Given the description of an element on the screen output the (x, y) to click on. 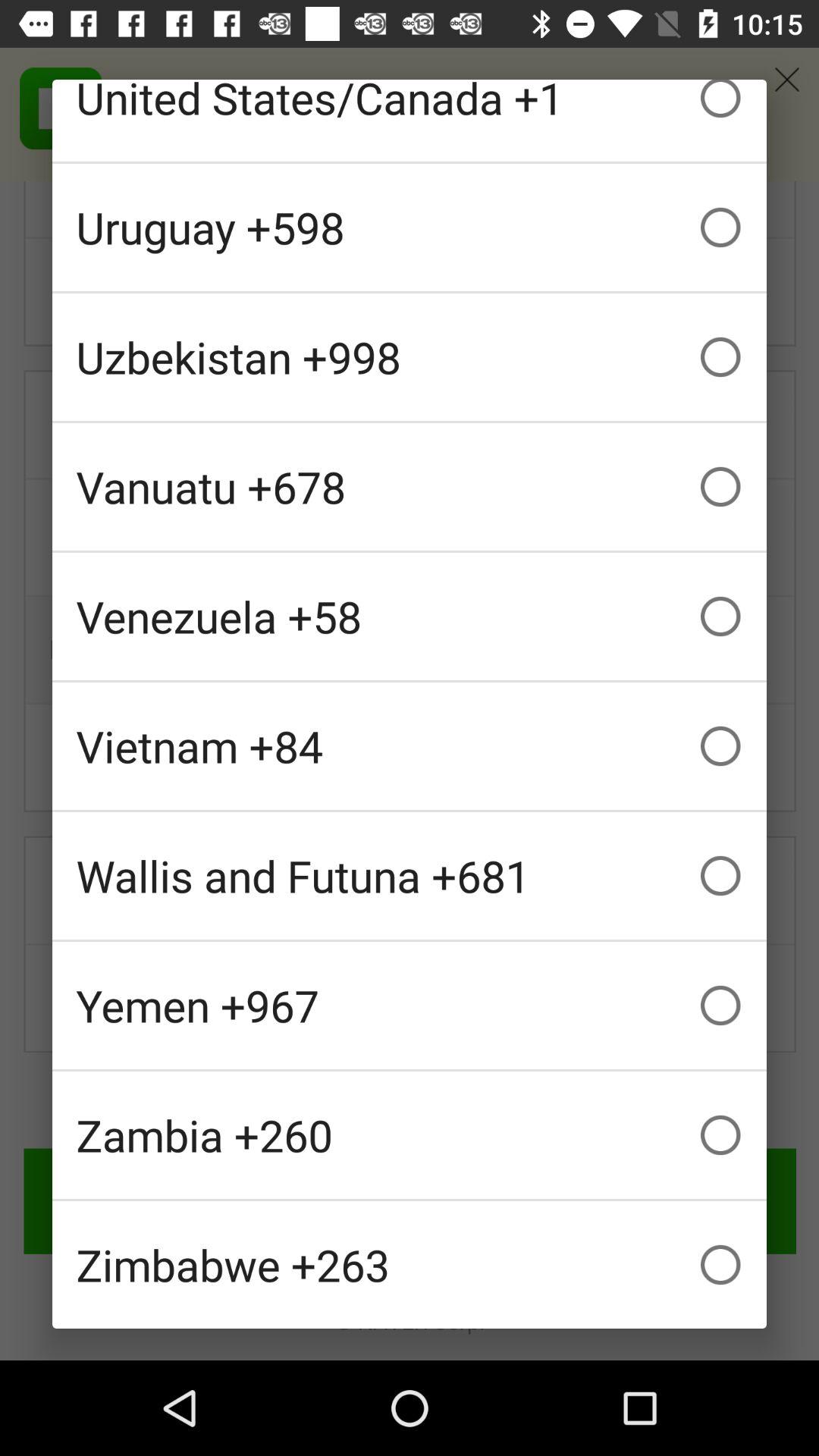
turn off the icon below uzbekistan +998 (409, 486)
